Given the description of an element on the screen output the (x, y) to click on. 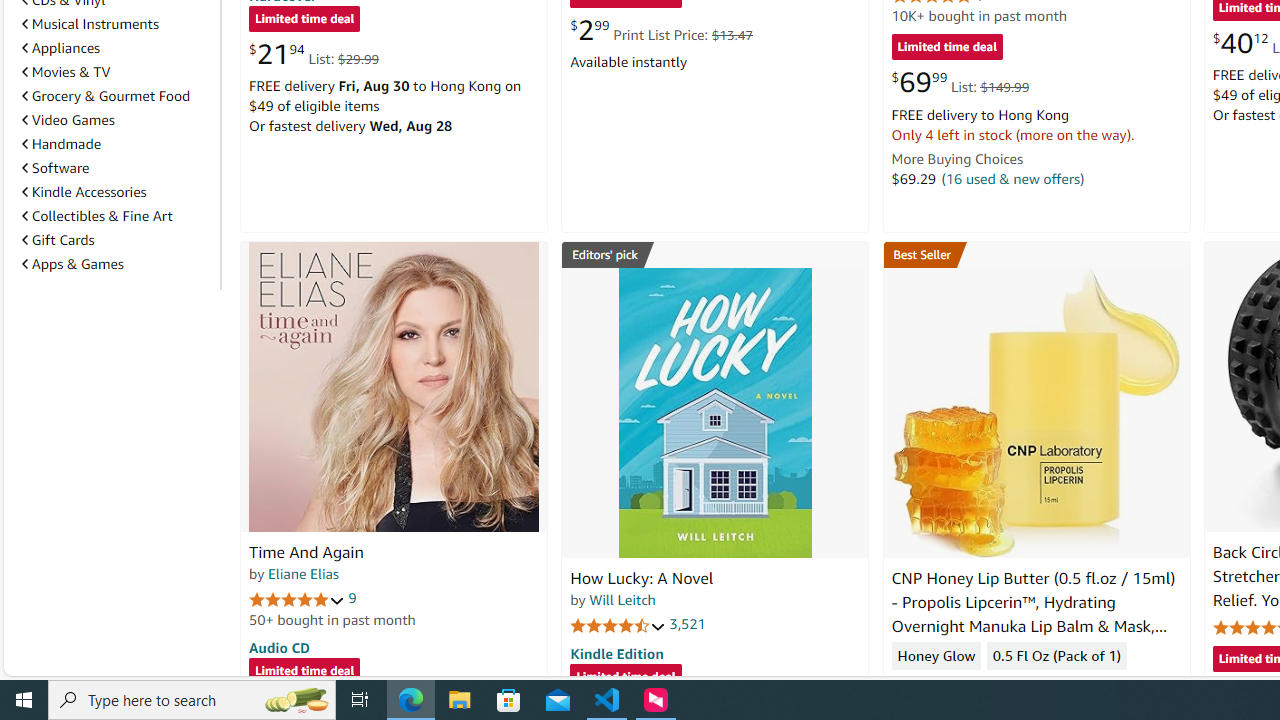
Musical Instruments (117, 23)
Kindle Accessories (84, 191)
Movies & TV (66, 71)
Software (117, 167)
4.3 out of 5 stars (939, 685)
How Lucky: A Novel (714, 412)
Apps & Games (117, 264)
Appliances (117, 48)
Best Seller in Lip Butters (1036, 254)
Collectibles & Fine Art (96, 215)
Audio CD (279, 646)
Software (55, 168)
How Lucky: A Novel (641, 578)
